Given the description of an element on the screen output the (x, y) to click on. 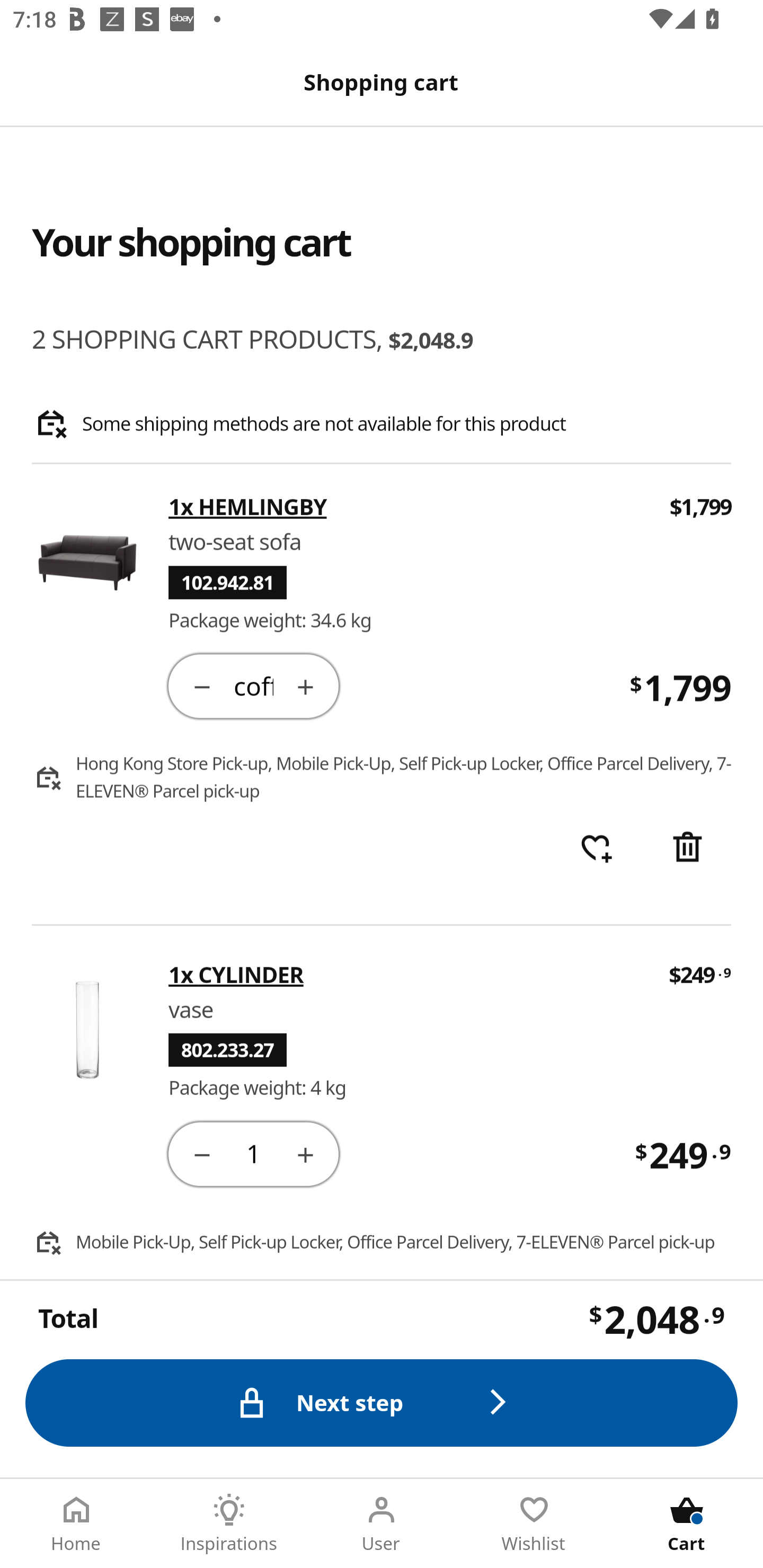
1x  HEMLINGBY 1x  HEMLINGBY (406, 507)
coffee table (253, 685)
 (201, 685)
 (305, 685)
  (595, 848)
 (686, 848)
1x  CYLINDER 1x  CYLINDER (405, 974)
1 (253, 1153)
 (201, 1153)
 (305, 1153)
Home
Tab 1 of 5 (76, 1522)
Inspirations
Tab 2 of 5 (228, 1522)
User
Tab 3 of 5 (381, 1522)
Wishlist
Tab 4 of 5 (533, 1522)
Cart
Tab 5 of 5 (686, 1522)
